Given the description of an element on the screen output the (x, y) to click on. 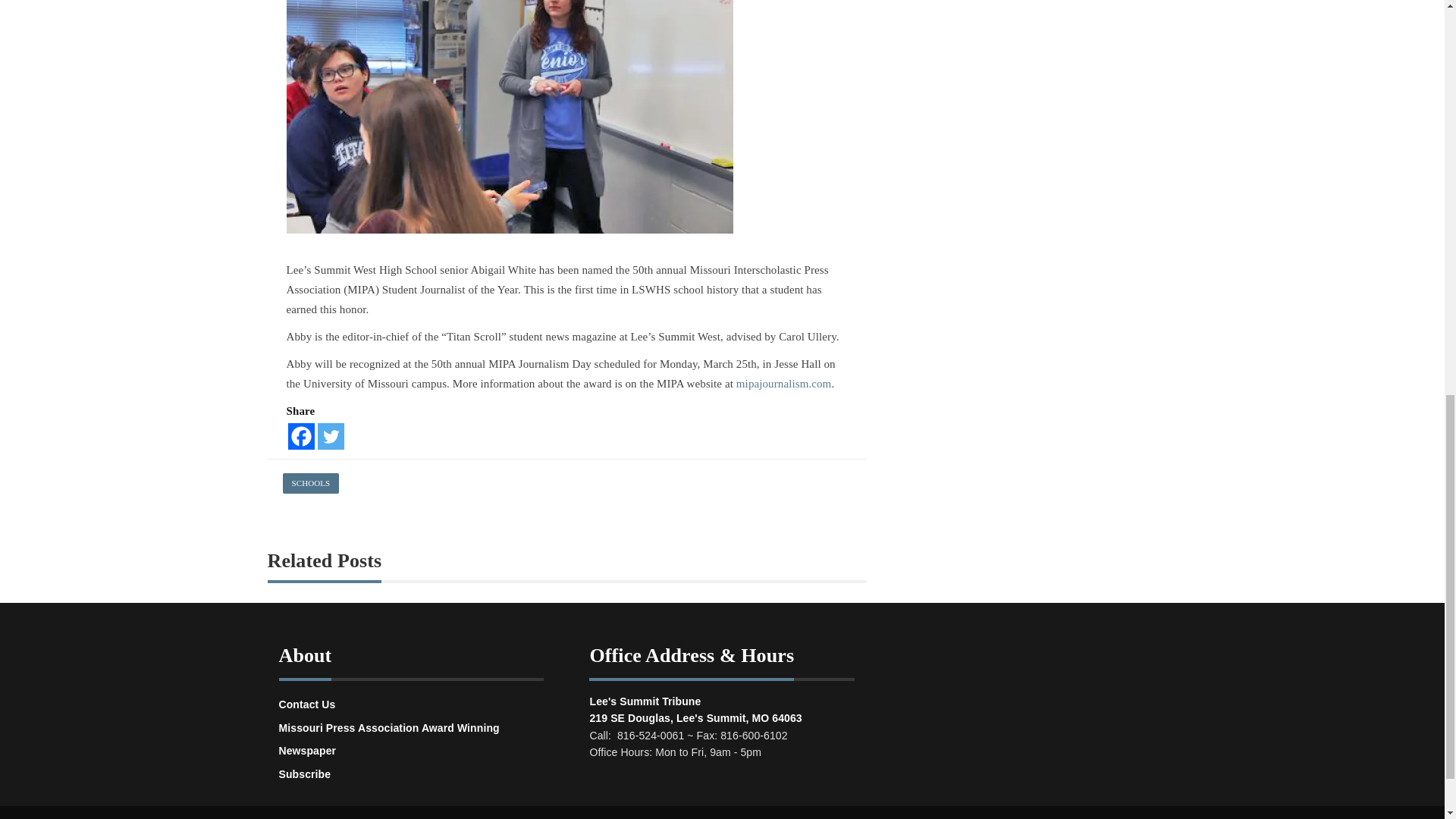
Facebook (301, 436)
SCHOOLS (310, 483)
mipajournalism.com (783, 383)
Twitter (330, 436)
